Given the description of an element on the screen output the (x, y) to click on. 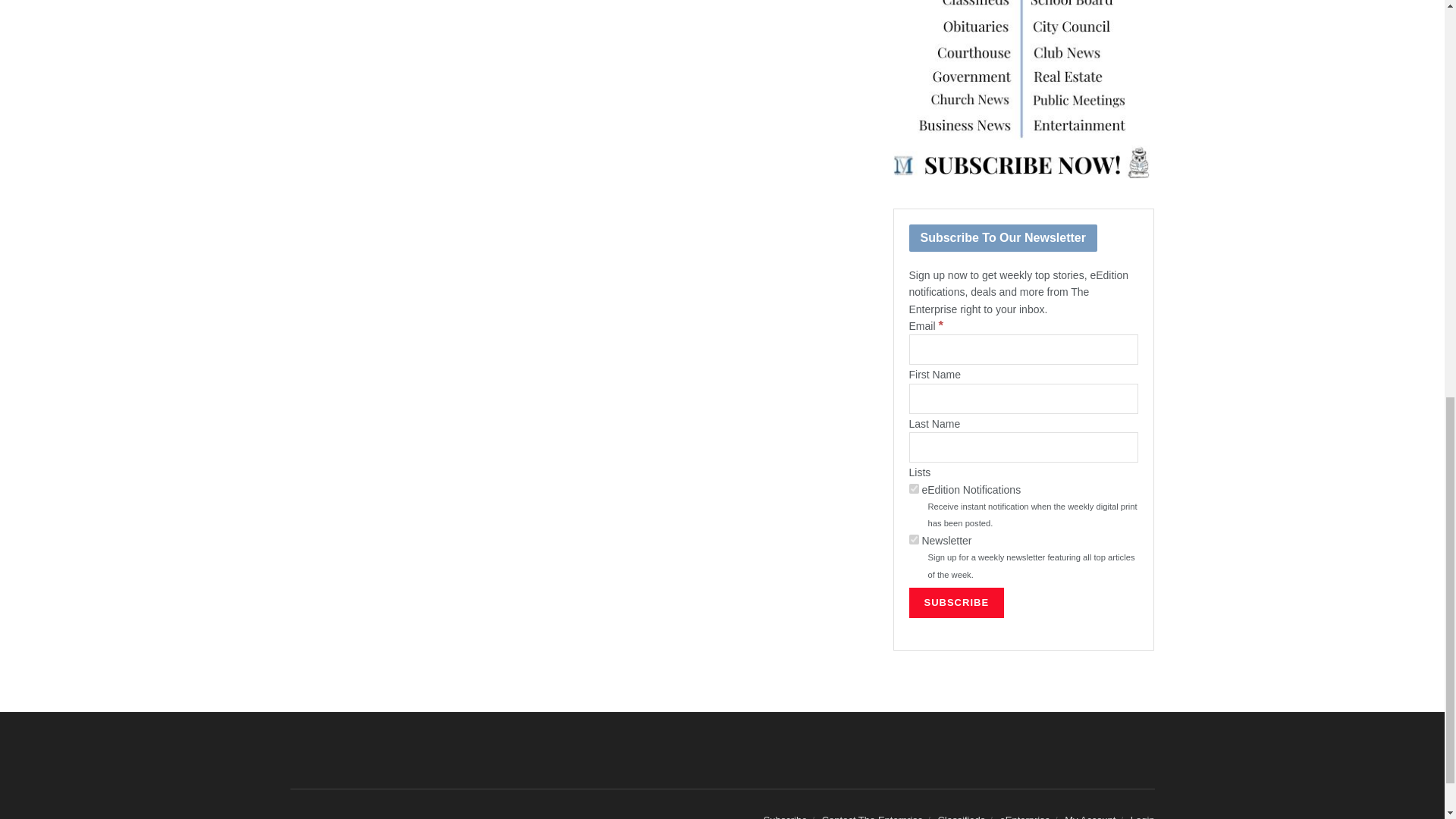
Subscribe (956, 603)
3 (913, 539)
2 (913, 488)
